Given the description of an element on the screen output the (x, y) to click on. 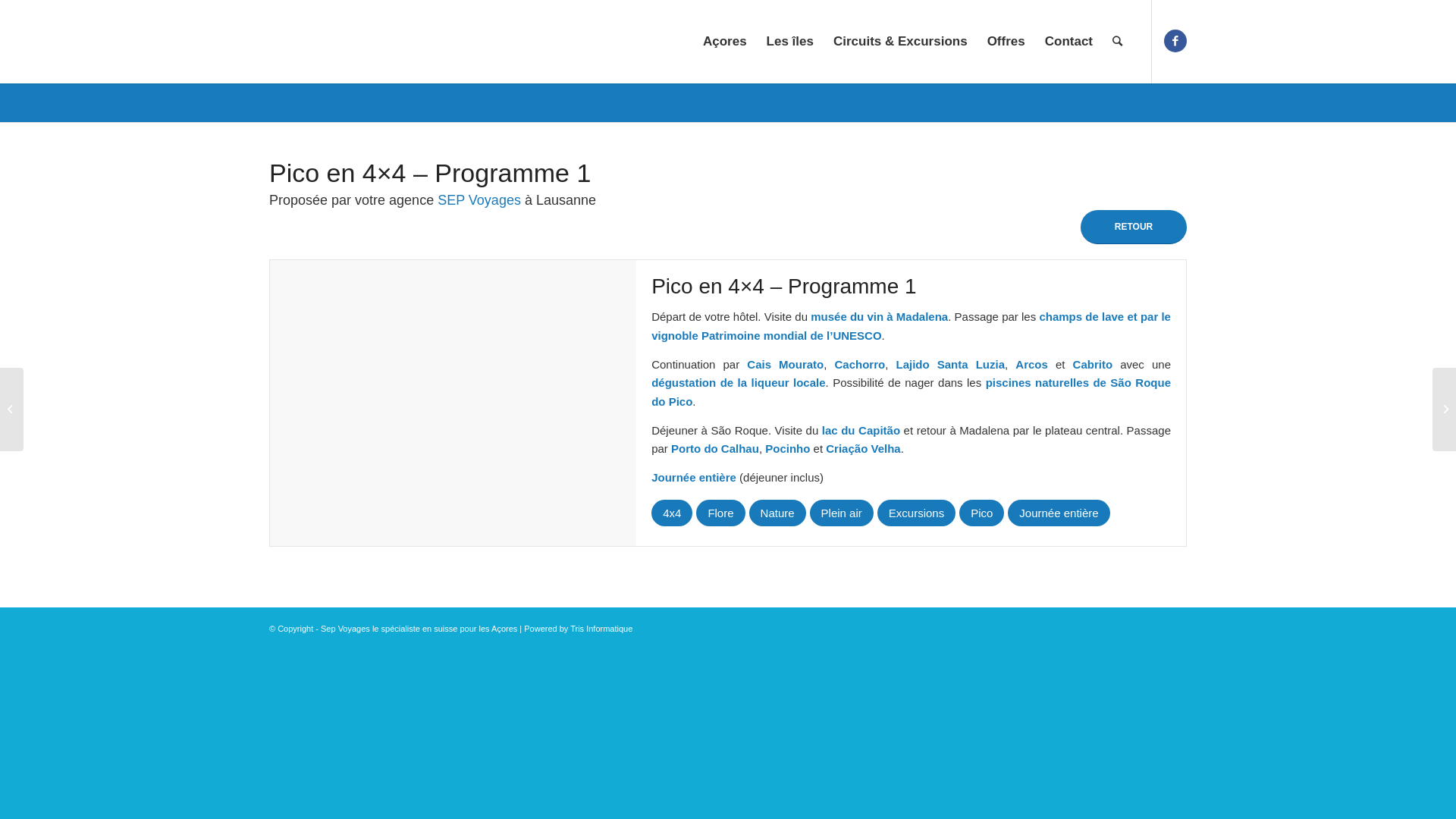
Facebook Element type: hover (1175, 40)
Plein air Element type: text (841, 513)
Tris Informatique Element type: text (601, 628)
Offres Element type: text (1006, 41)
Nature Element type: text (777, 513)
RETOUR Element type: text (1133, 227)
Flore Element type: text (720, 513)
SEP Voyages Element type: text (478, 199)
Excursions Element type: text (916, 513)
4x4 Element type: text (671, 513)
Circuits & Excursions Element type: text (900, 41)
Pico Element type: text (981, 513)
Contact Element type: text (1068, 41)
